Given the description of an element on the screen output the (x, y) to click on. 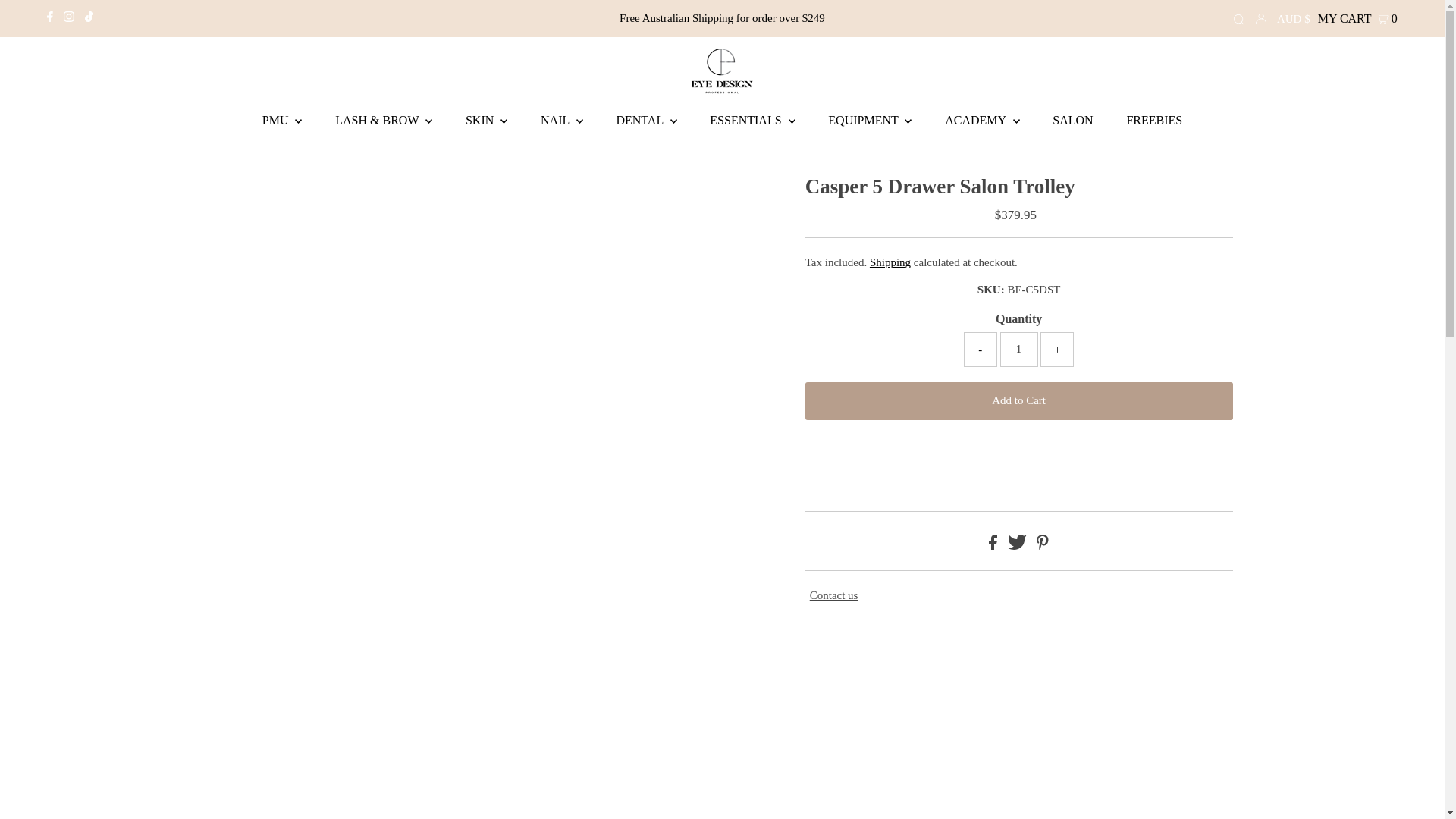
Add to Cart (1019, 401)
1 (1019, 349)
